Given the description of an element on the screen output the (x, y) to click on. 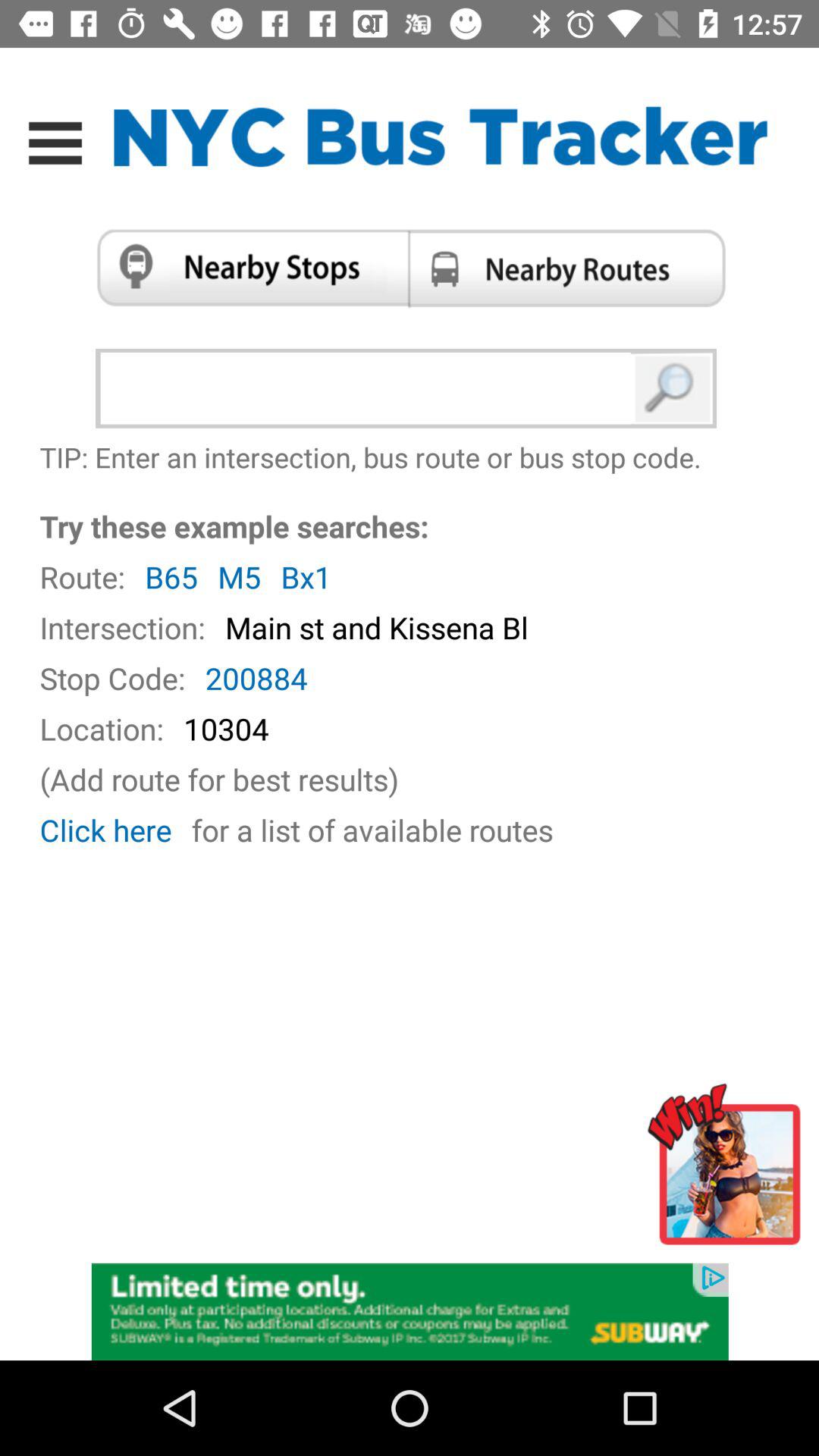
advertise an promotion (409, 1310)
